Given the description of an element on the screen output the (x, y) to click on. 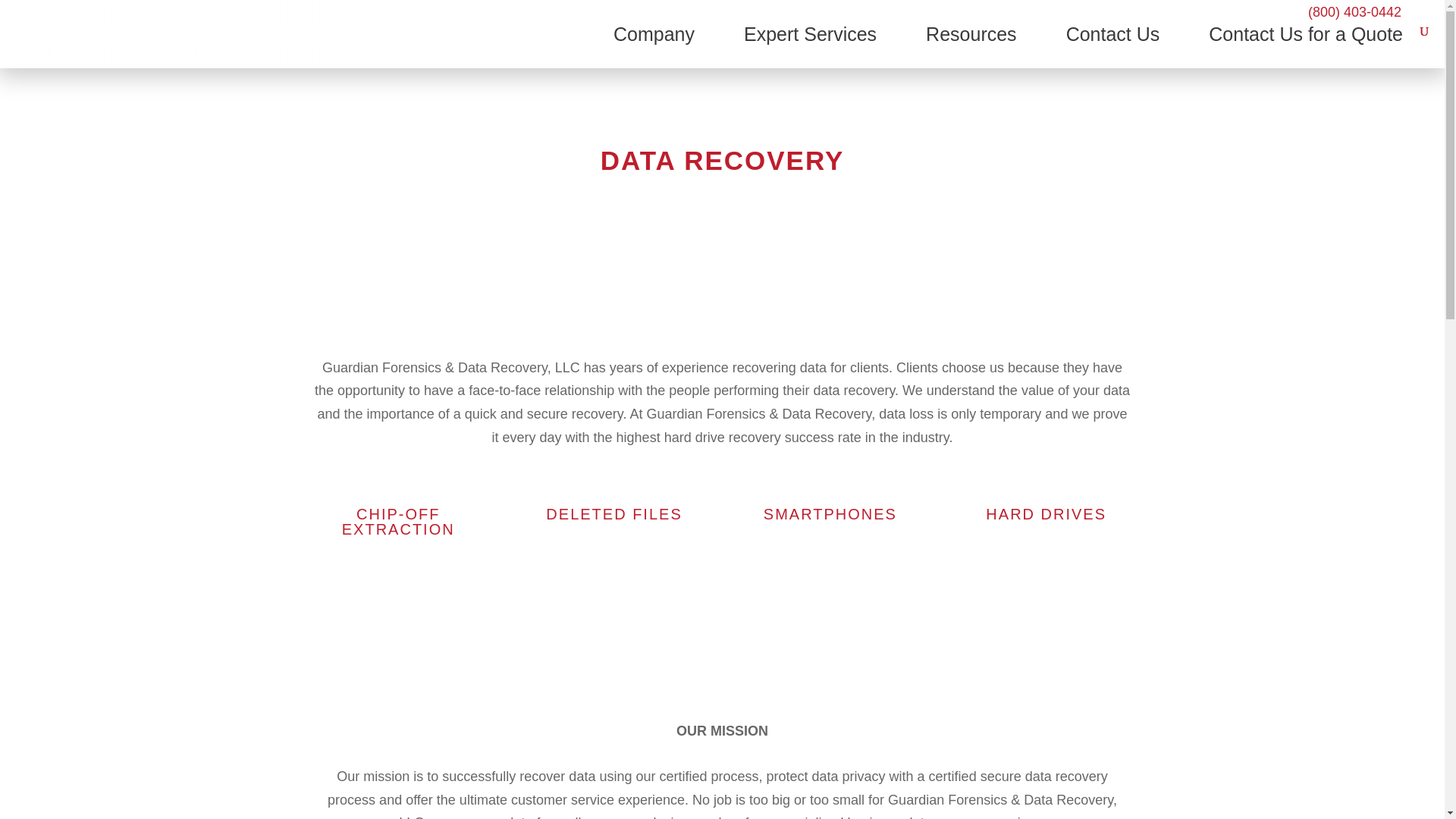
Expert Services (810, 46)
Company (653, 46)
Resources (971, 46)
